Given the description of an element on the screen output the (x, y) to click on. 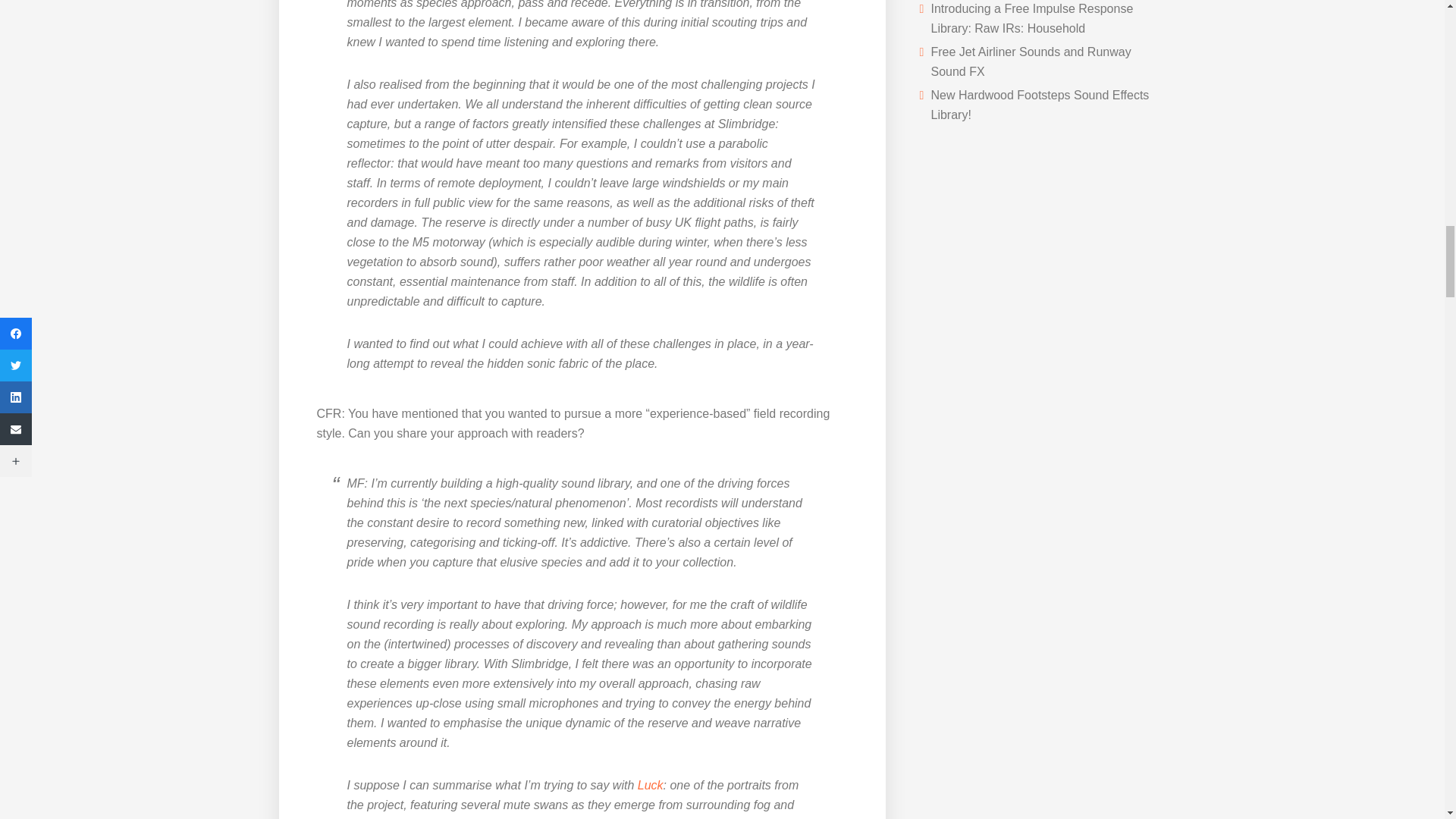
Luck (650, 784)
